Given the description of an element on the screen output the (x, y) to click on. 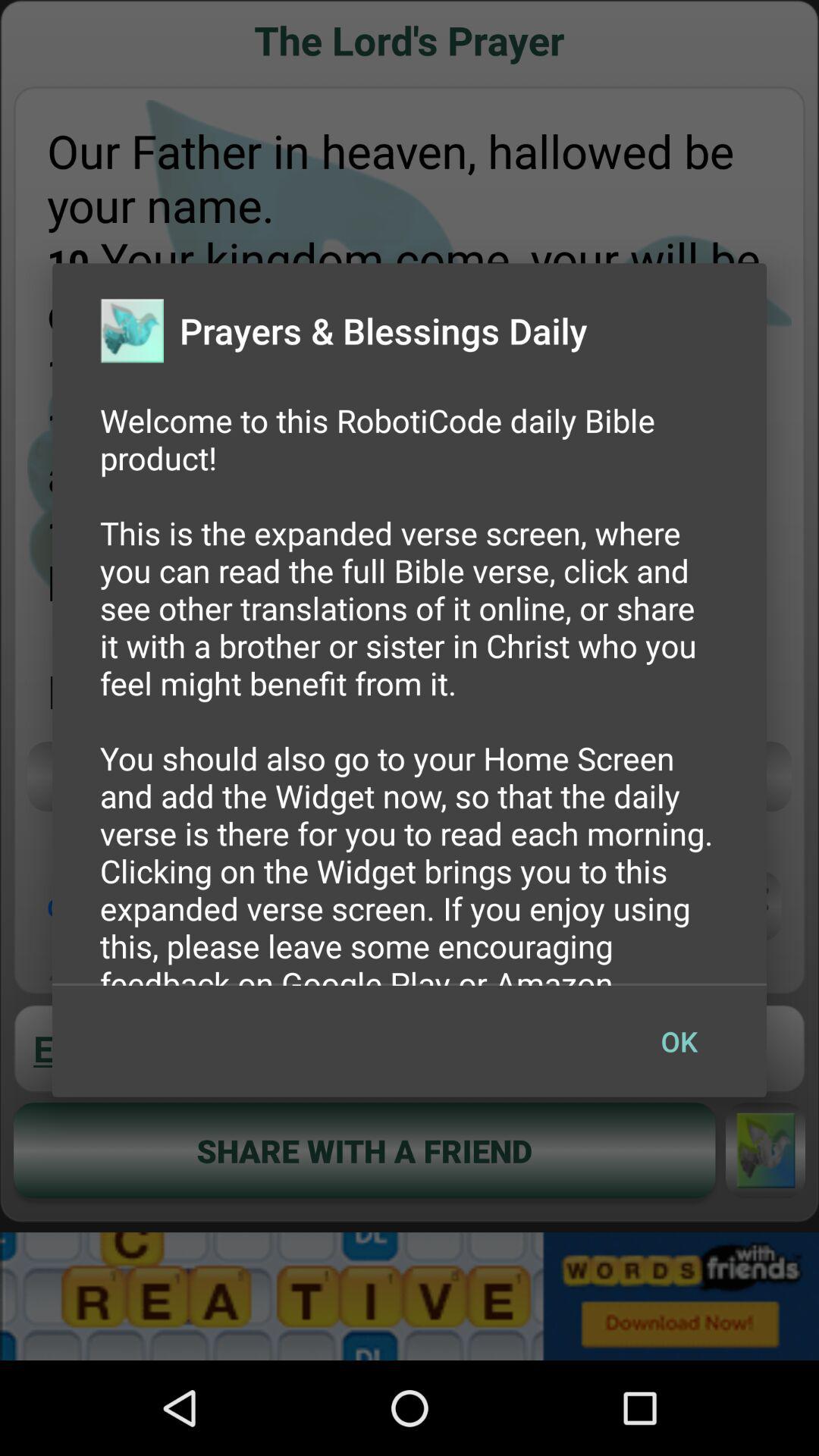
open the button at the bottom right corner (678, 1041)
